Given the description of an element on the screen output the (x, y) to click on. 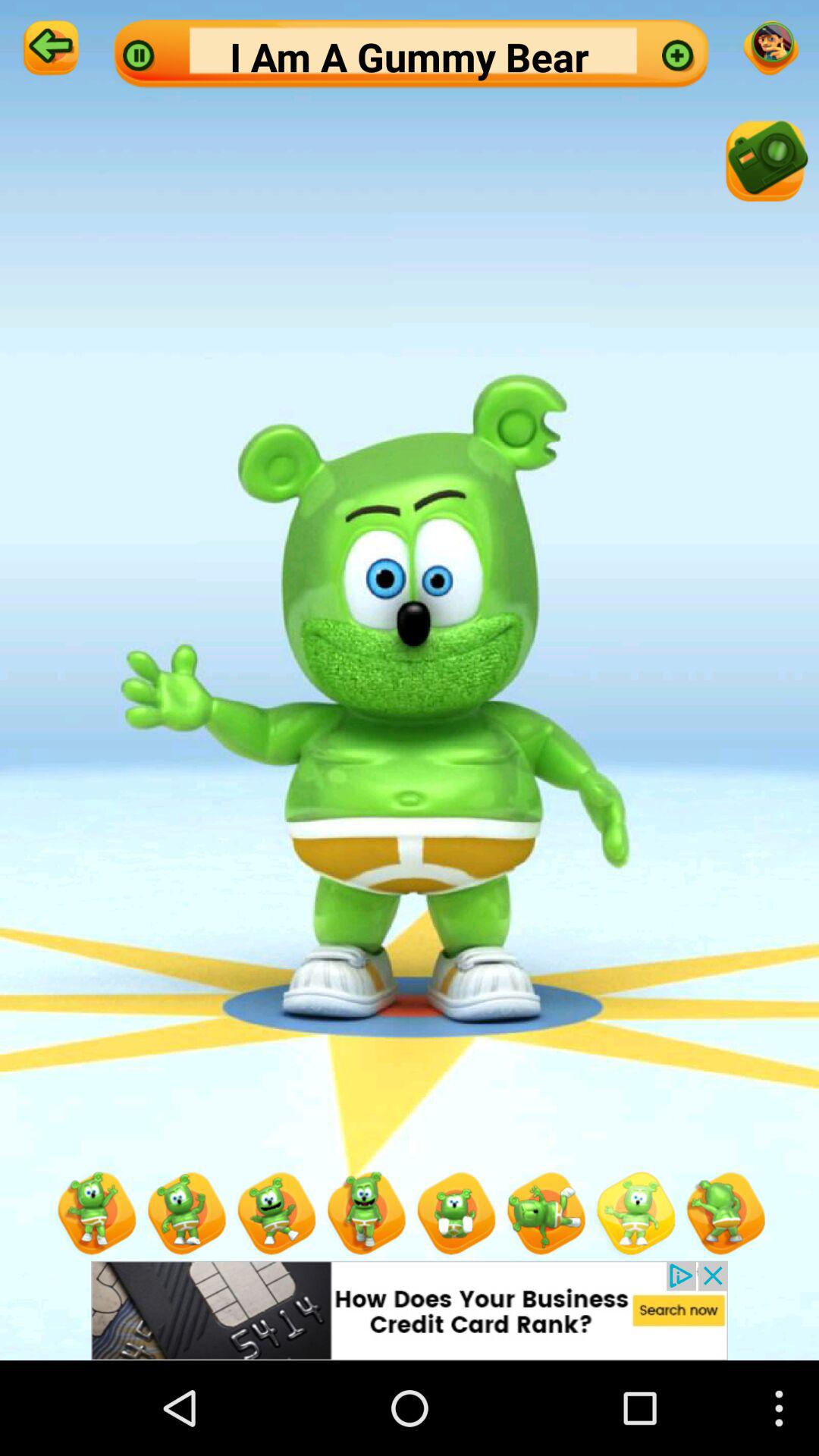
go to first green color bear at bottom left of page (94, 1215)
